Given the description of an element on the screen output the (x, y) to click on. 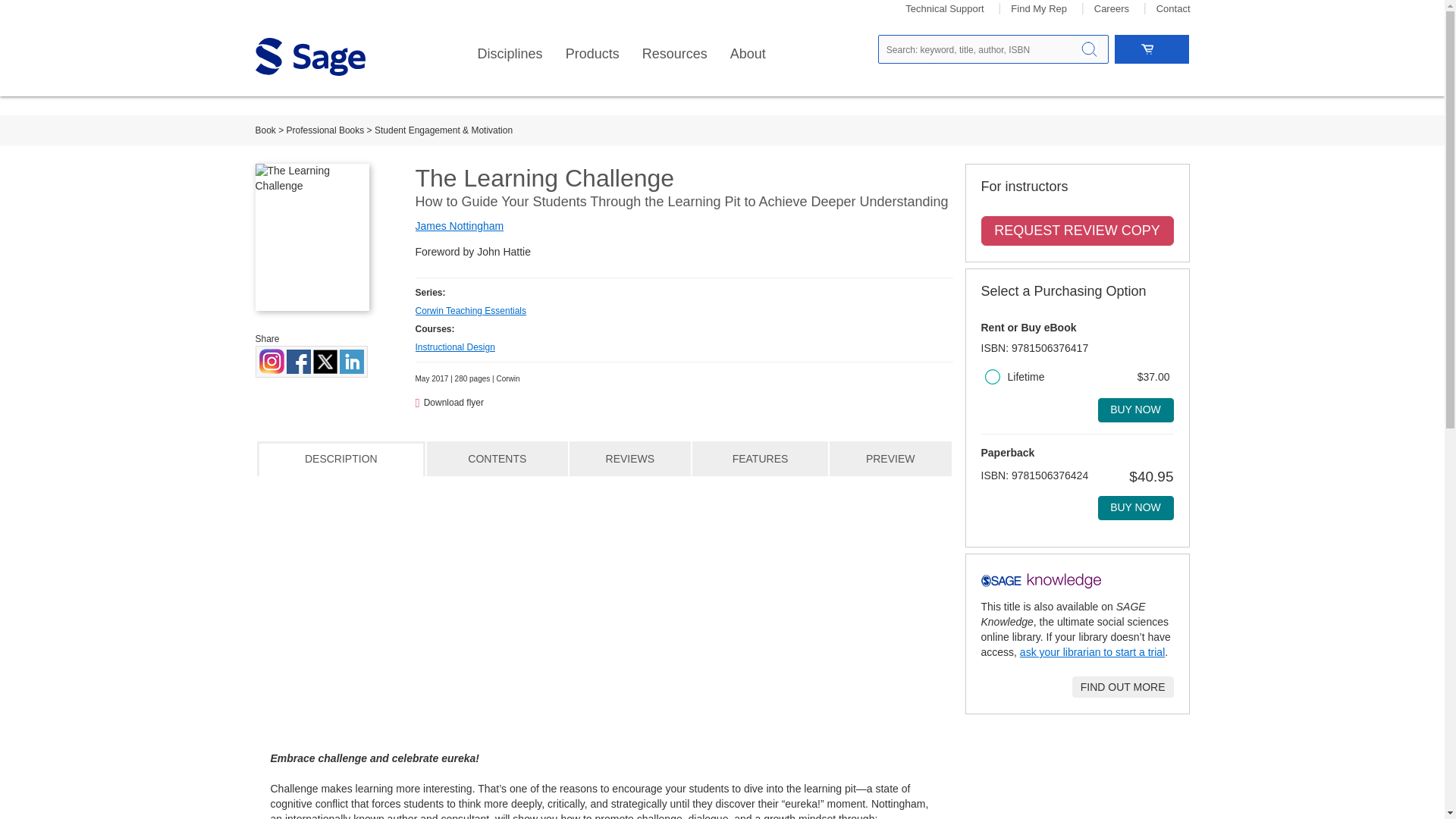
Request review copy (1077, 231)
Technical Support (944, 8)
Careers (1111, 8)
Sage logo: link back to homepage (309, 56)
Find My Rep (1038, 8)
Contact (1173, 8)
Buy now (1135, 410)
Buy now (1135, 508)
Disciplines (509, 53)
